Given the description of an element on the screen output the (x, y) to click on. 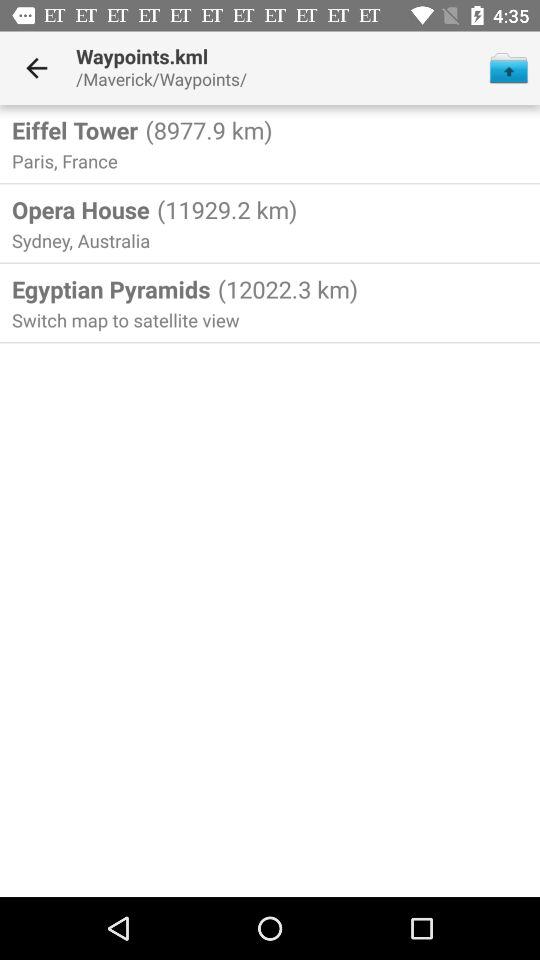
tap item next to waypoints.kml item (36, 68)
